Given the description of an element on the screen output the (x, y) to click on. 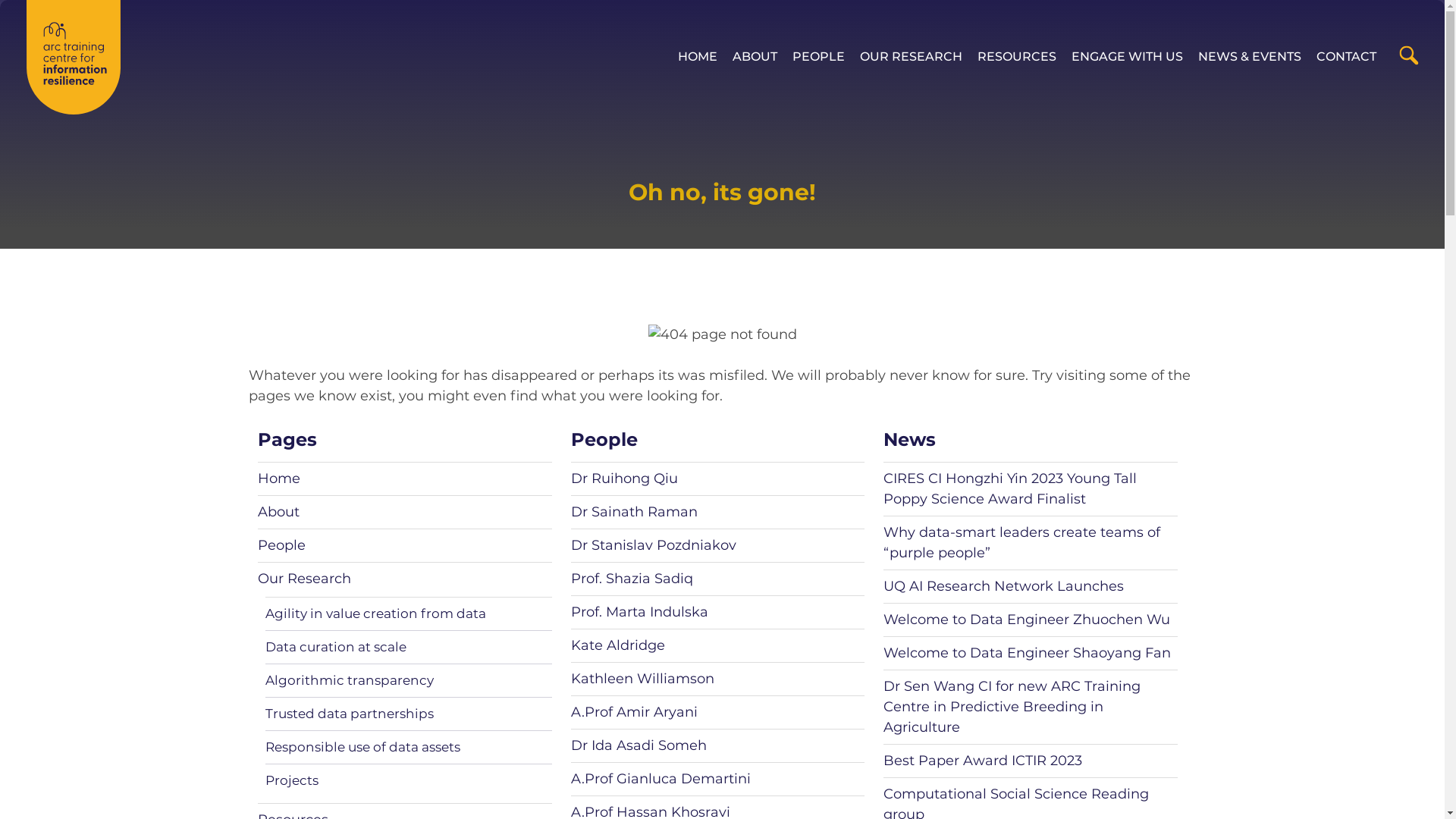
Dr Stanislav Pozdniakov Element type: text (652, 544)
Prof. Shazia Sadiq Element type: text (631, 578)
HOME Element type: text (697, 56)
Home Element type: text (278, 478)
A.Prof Gianluca Demartini Element type: text (659, 778)
Best Paper Award ICTIR 2023 Element type: text (982, 760)
Trusted data partnerships Element type: text (349, 713)
CONTACT Element type: text (1346, 56)
UQ AI Research Network Launches Element type: text (1003, 585)
About Element type: text (278, 511)
People Element type: text (281, 544)
Our Research Element type: text (304, 578)
NEWS & EVENTS Element type: text (1249, 56)
Projects Element type: text (291, 779)
Kate Aldridge Element type: text (617, 645)
Data curation at scale Element type: text (335, 646)
Algorithmic transparency Element type: text (349, 679)
Welcome to Data Engineer Zhuochen Wu Element type: text (1026, 619)
Dr Ruihong Qiu Element type: text (623, 478)
Kathleen Williamson Element type: text (641, 678)
PEOPLE Element type: text (818, 56)
Dr Ida Asadi Someh Element type: text (638, 745)
OUR RESEARCH Element type: text (910, 56)
RESOURCES Element type: text (1016, 56)
Welcome to Data Engineer Shaoyang Fan Element type: text (1026, 652)
Responsible use of data assets Element type: text (362, 746)
Dr Sainath Raman Element type: text (633, 511)
Prof. Marta Indulska Element type: text (638, 611)
ABOUT Element type: text (754, 56)
Agility in value creation from data Element type: text (375, 613)
A.Prof Amir Aryani Element type: text (633, 711)
ENGAGE WITH US Element type: text (1127, 56)
